Given the description of an element on the screen output the (x, y) to click on. 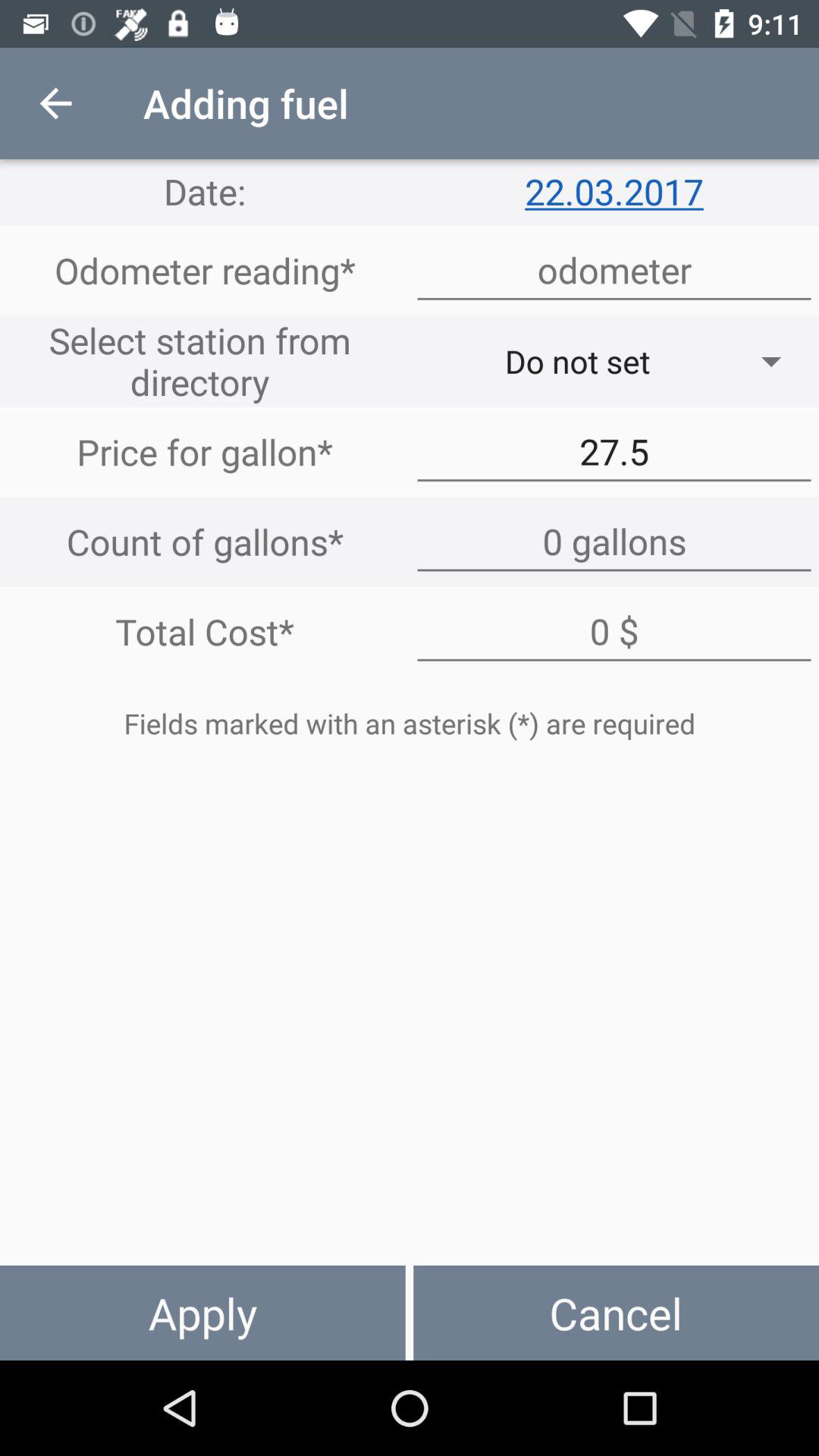
number page (614, 270)
